Given the description of an element on the screen output the (x, y) to click on. 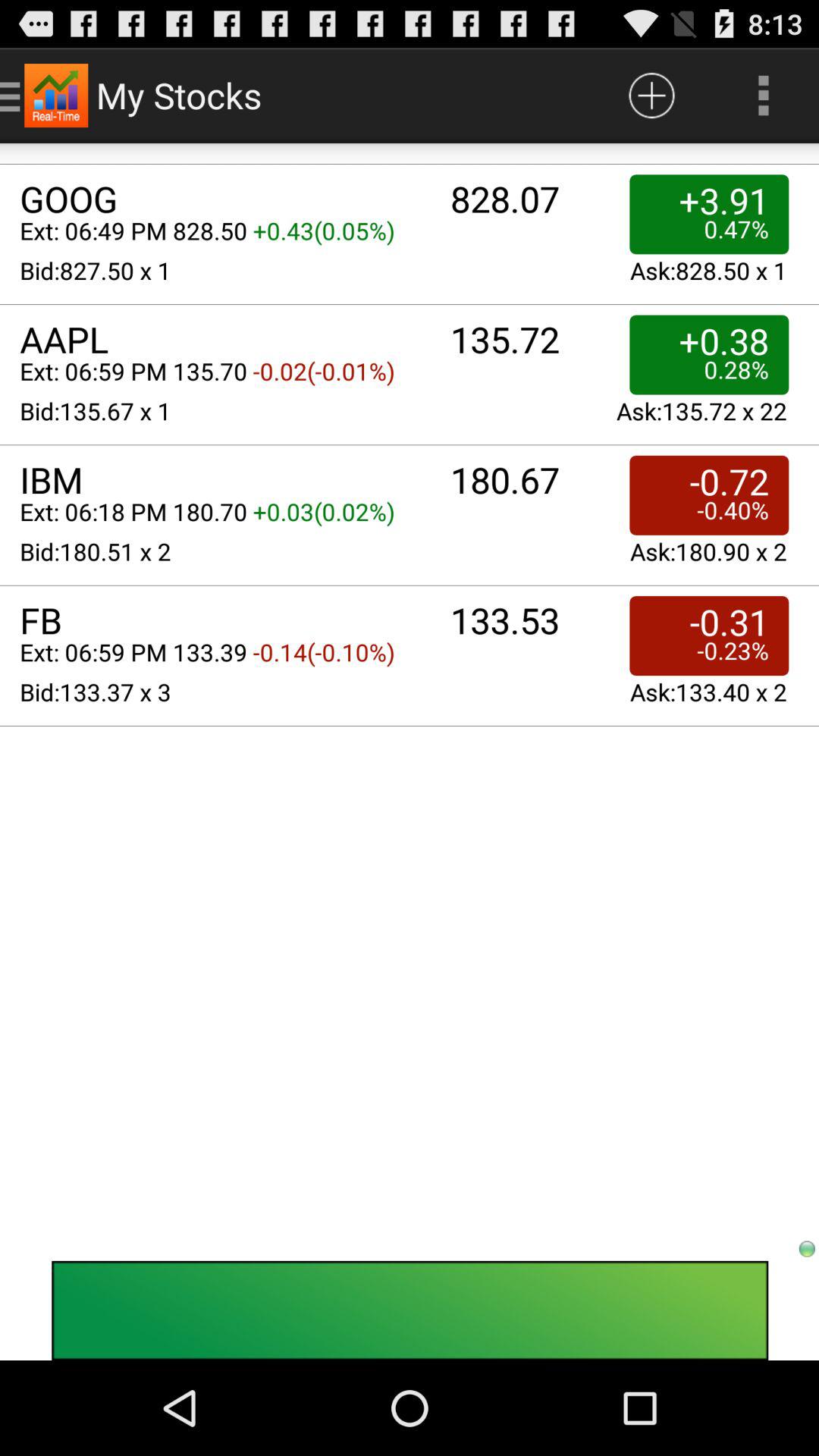
click the app to the right of the my stocks app (651, 95)
